Given the description of an element on the screen output the (x, y) to click on. 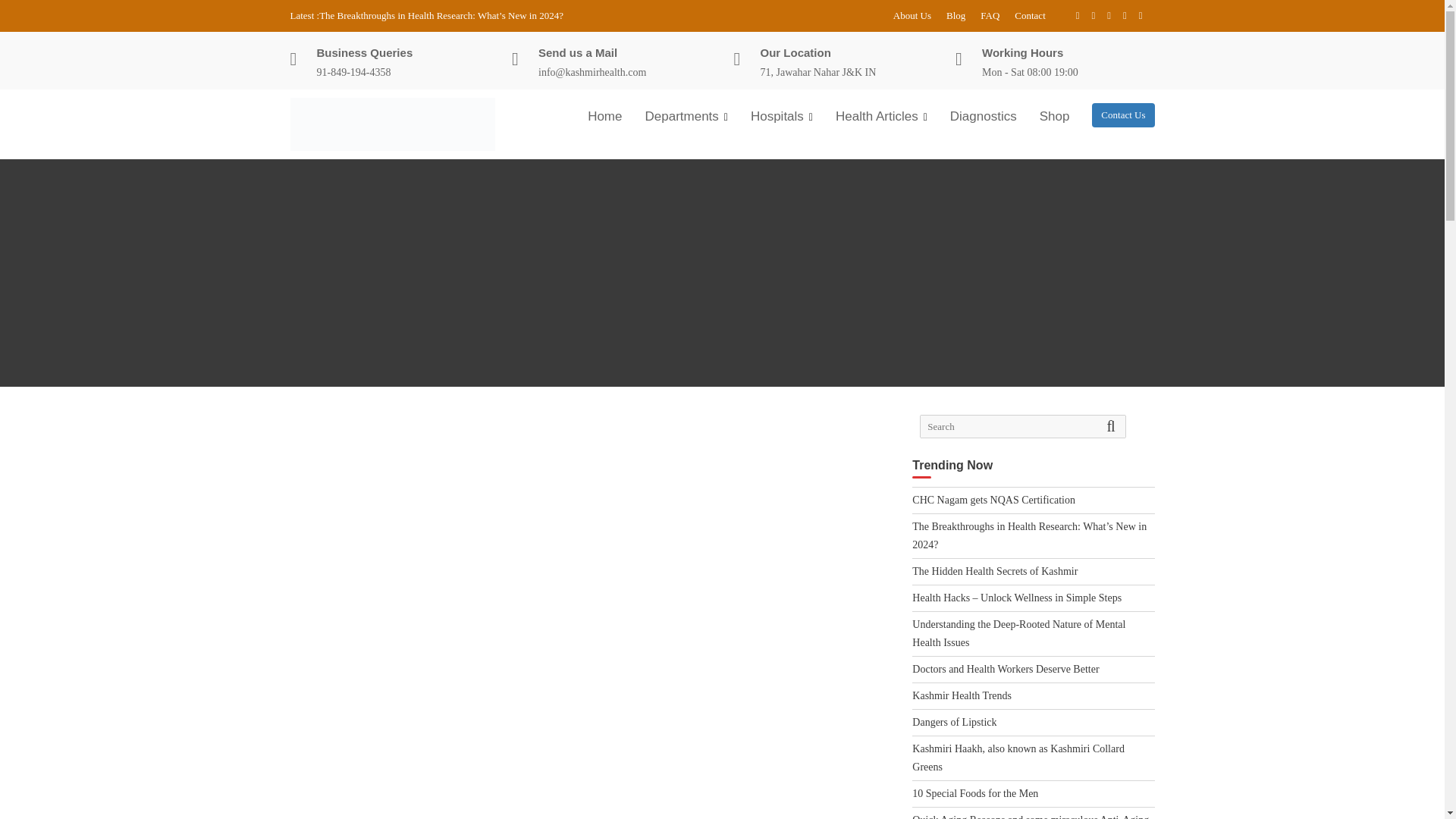
Home (604, 116)
Hospitals (781, 116)
Contact (1029, 15)
About Us (912, 15)
Health Articles (881, 116)
Contact Us (1123, 115)
Departments (685, 116)
